Given the description of an element on the screen output the (x, y) to click on. 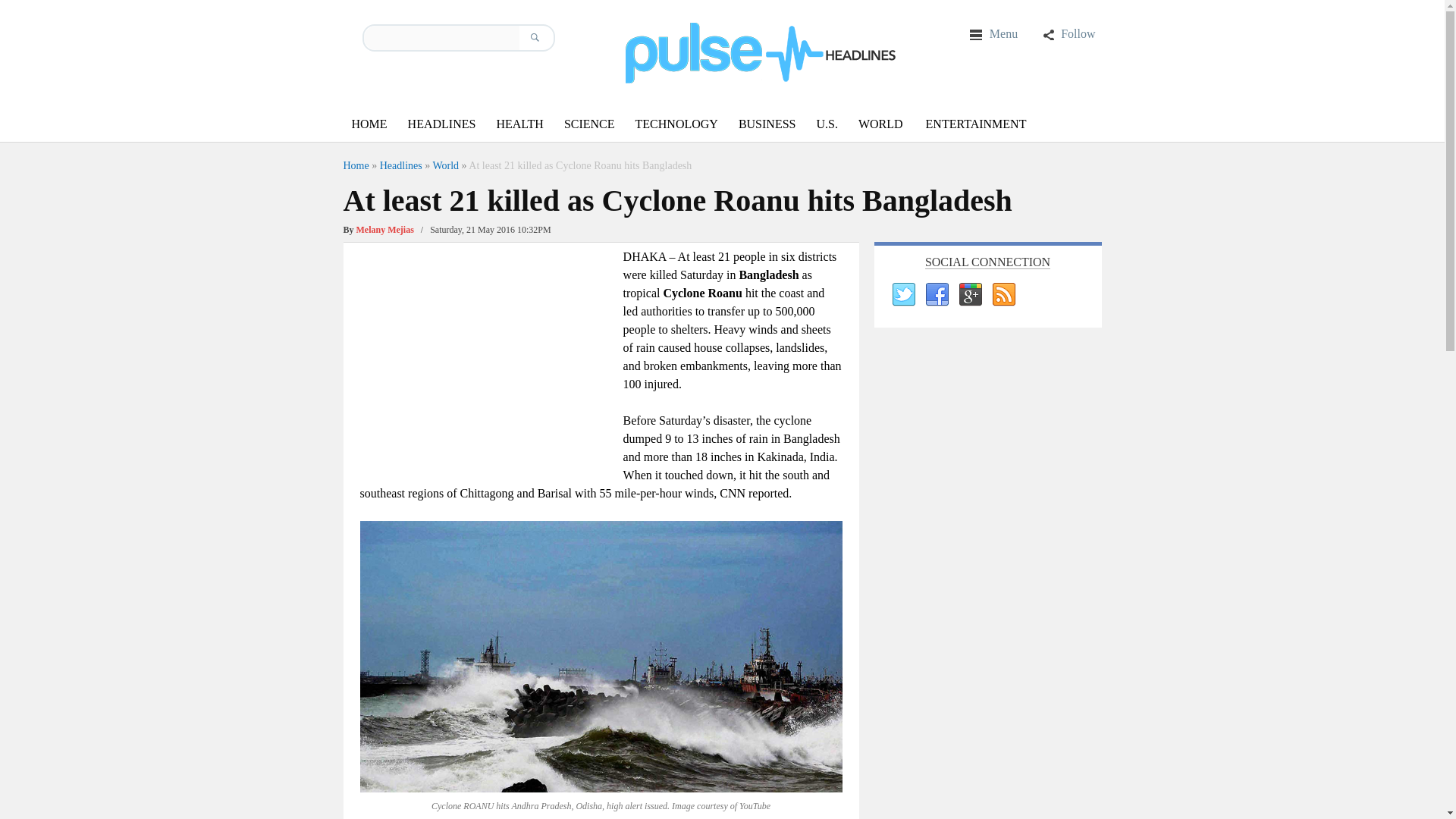
Advertisement (986, 577)
Menu (993, 33)
TECHNOLOGY (676, 123)
ENTERTAINMENT (975, 123)
 View all posts by Melany Mejias (384, 229)
Google Plus (968, 294)
HEADLINES (441, 123)
World (445, 165)
Melany Mejias (384, 229)
Headlines (401, 165)
RSS (1002, 294)
U.S. (826, 123)
Facebook (935, 294)
Advertisement (486, 354)
BUSINESS (767, 123)
